Given the description of an element on the screen output the (x, y) to click on. 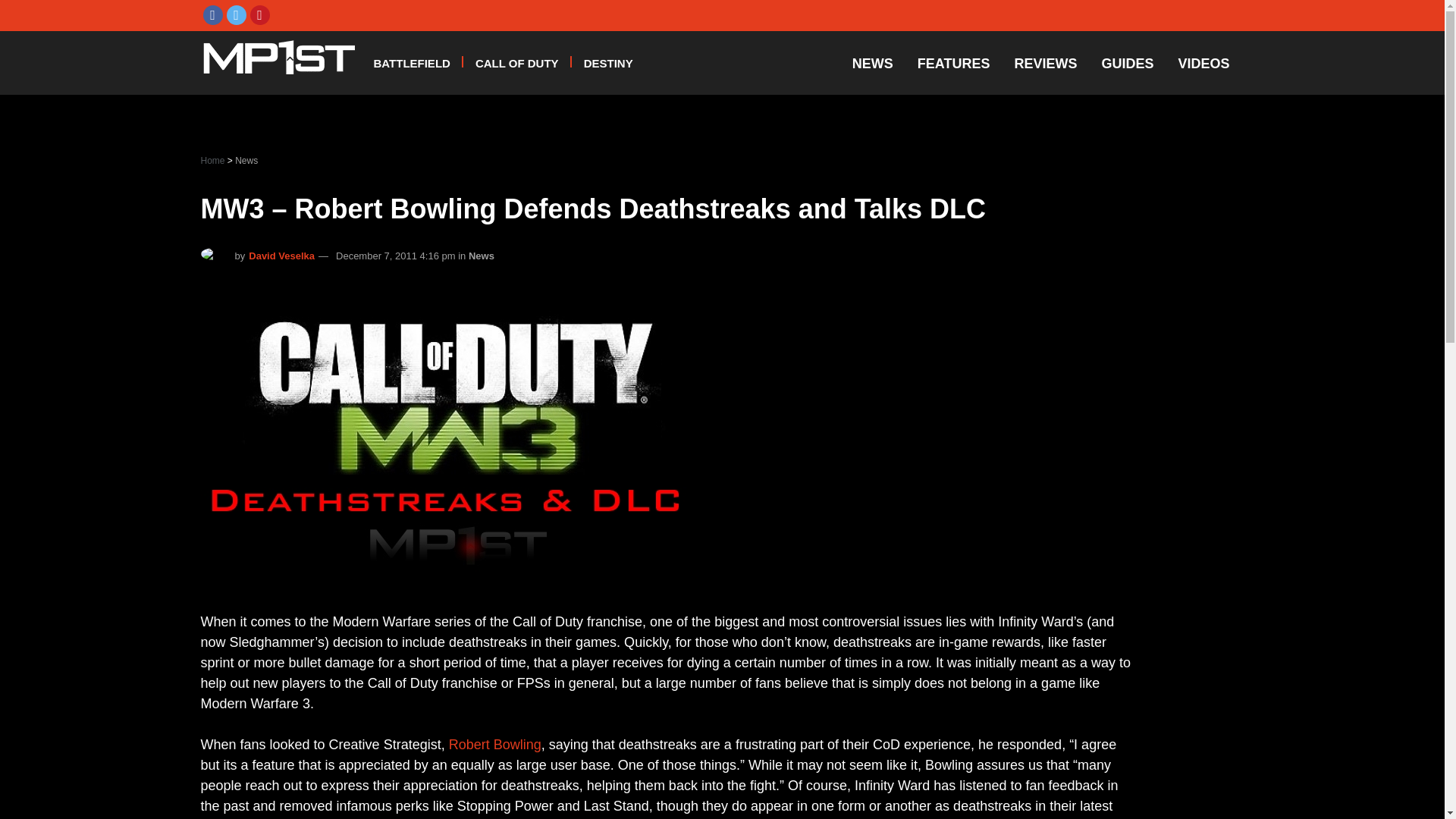
DESTINY (608, 62)
GUIDES (1127, 63)
FEATURES (954, 63)
David Veselka (281, 256)
NEWS (872, 63)
News (481, 255)
Home (213, 160)
December 7, 2011 4:16 pm (395, 255)
News (245, 160)
VIDEOS (1203, 63)
REVIEWS (1045, 63)
CALL OF DUTY (517, 62)
Robert Bowling (494, 744)
BATTLEFIELD (410, 62)
